Given the description of an element on the screen output the (x, y) to click on. 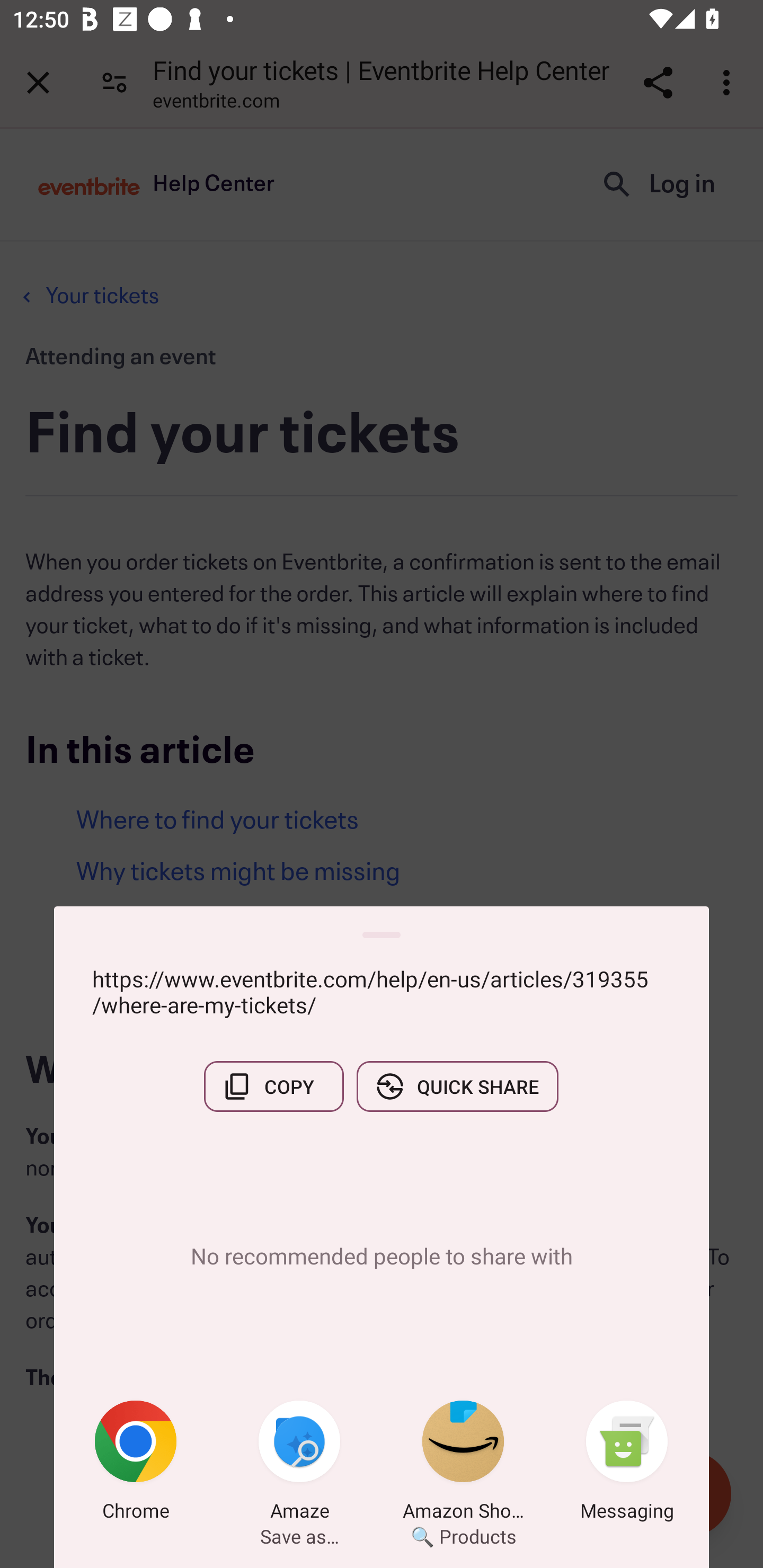
COPY (273, 1086)
QUICK SHARE (457, 1086)
Chrome (135, 1463)
Amaze Save as… (299, 1463)
Amazon Shopping 🔍 Products (463, 1463)
Messaging (626, 1463)
